Given the description of an element on the screen output the (x, y) to click on. 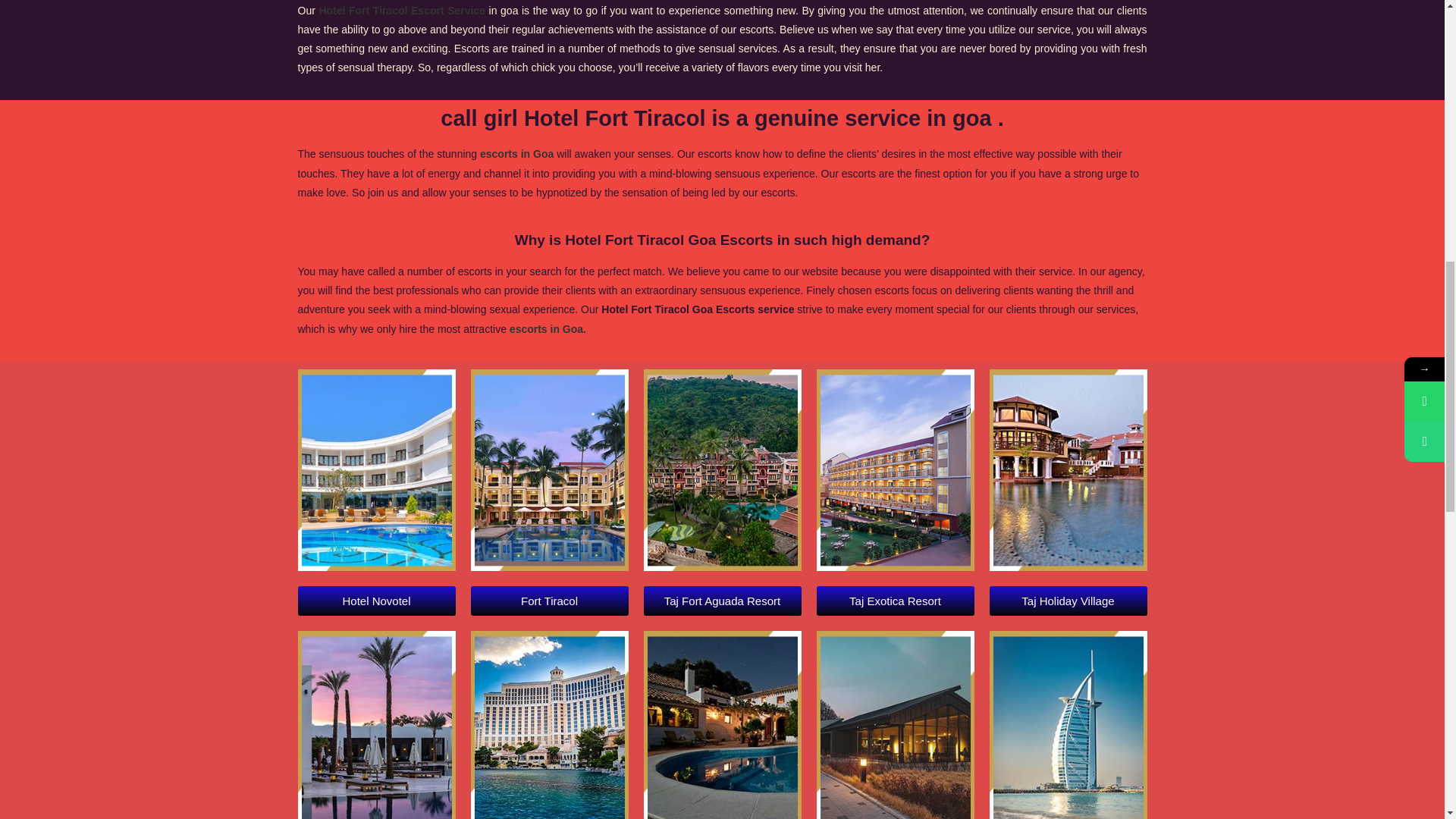
Taj Fort Aguada Resort (721, 600)
Hotel Fort Tiracol Escort Service (401, 10)
Taj Exotica Resort (894, 600)
Taj Holiday Village (1067, 600)
Hotel Novotel (375, 600)
escorts in Goa. (547, 328)
escorts in Goa (516, 153)
Fort Tiracol (548, 600)
